Given the description of an element on the screen output the (x, y) to click on. 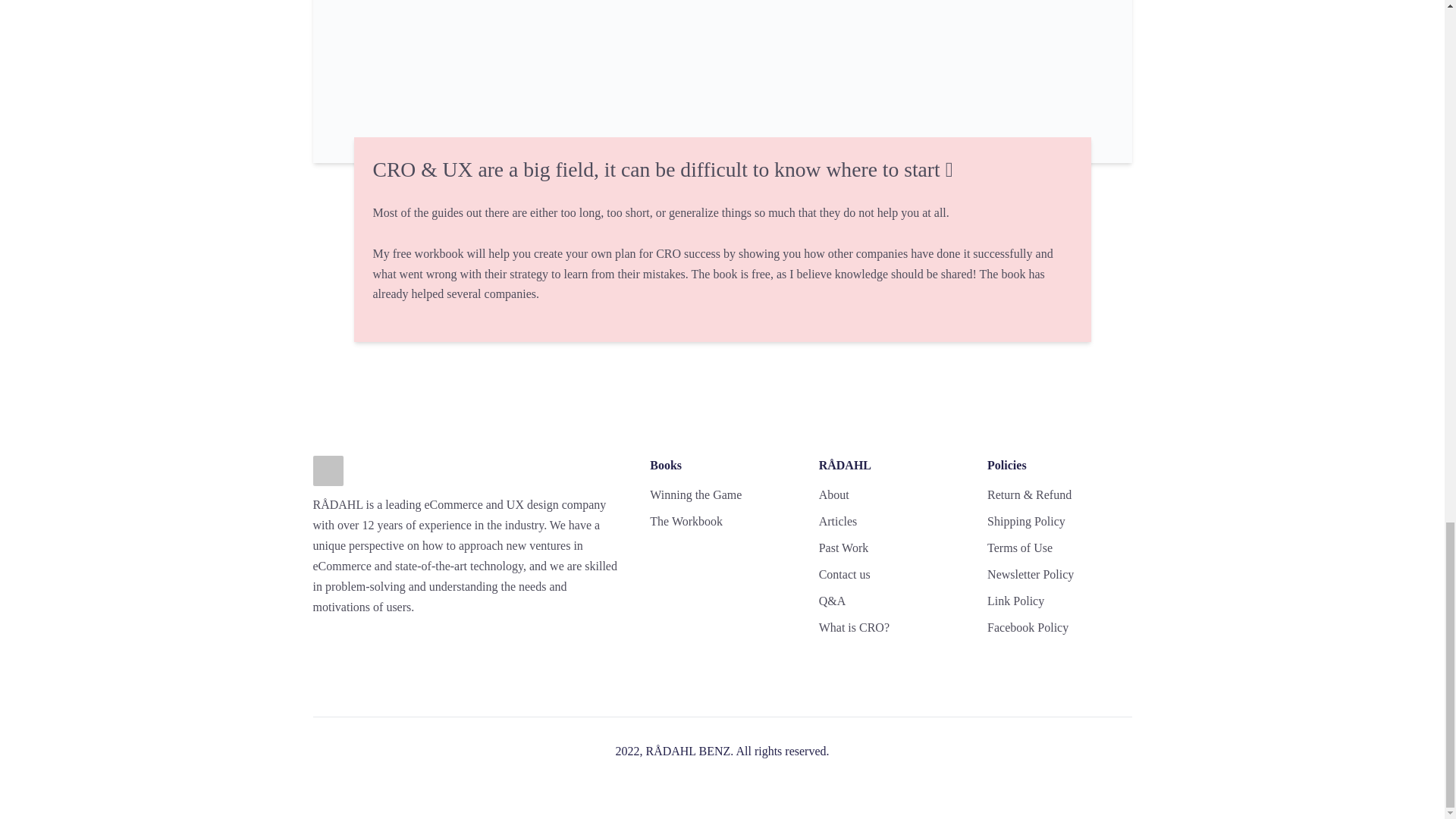
What is CRO? (853, 628)
About (833, 495)
Terms of Use (1019, 548)
Shipping Policy (1026, 521)
Past Work (843, 548)
Facebook Policy (1027, 628)
Newsletter Policy (1030, 575)
Articles (837, 521)
Contact us (844, 575)
Link Policy (1015, 601)
Winning the Game (695, 495)
The Workbook (685, 521)
